Given the description of an element on the screen output the (x, y) to click on. 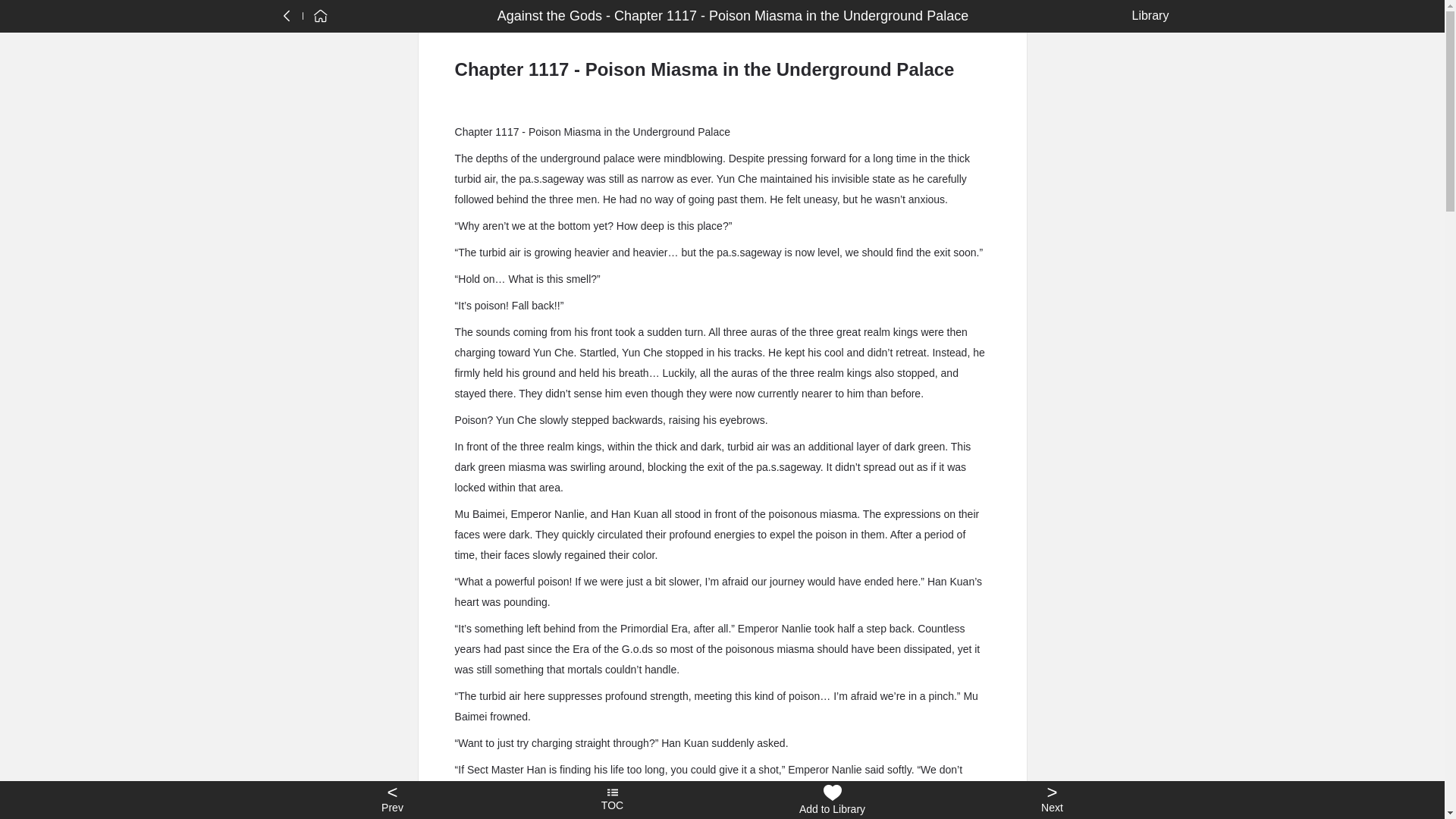
Library (1146, 15)
Add to Library (832, 800)
TOC (612, 800)
